Given the description of an element on the screen output the (x, y) to click on. 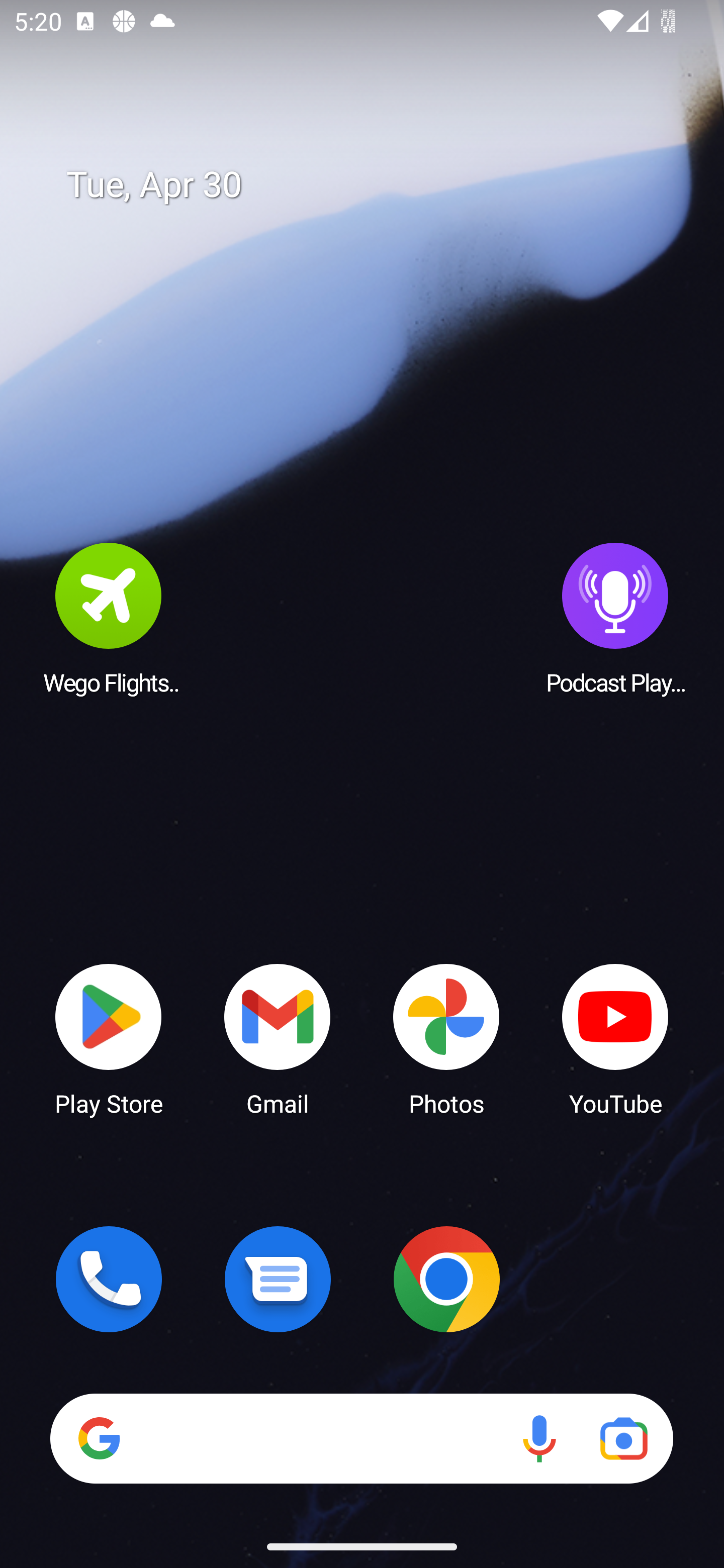
Tue, Apr 30 (375, 184)
Wego Flights & Hotels (108, 617)
Podcast Player (615, 617)
Play Store (108, 1038)
Gmail (277, 1038)
Photos (445, 1038)
YouTube (615, 1038)
Phone (108, 1279)
Messages (277, 1279)
Chrome (446, 1279)
Voice search (539, 1438)
Google Lens (623, 1438)
